Given the description of an element on the screen output the (x, y) to click on. 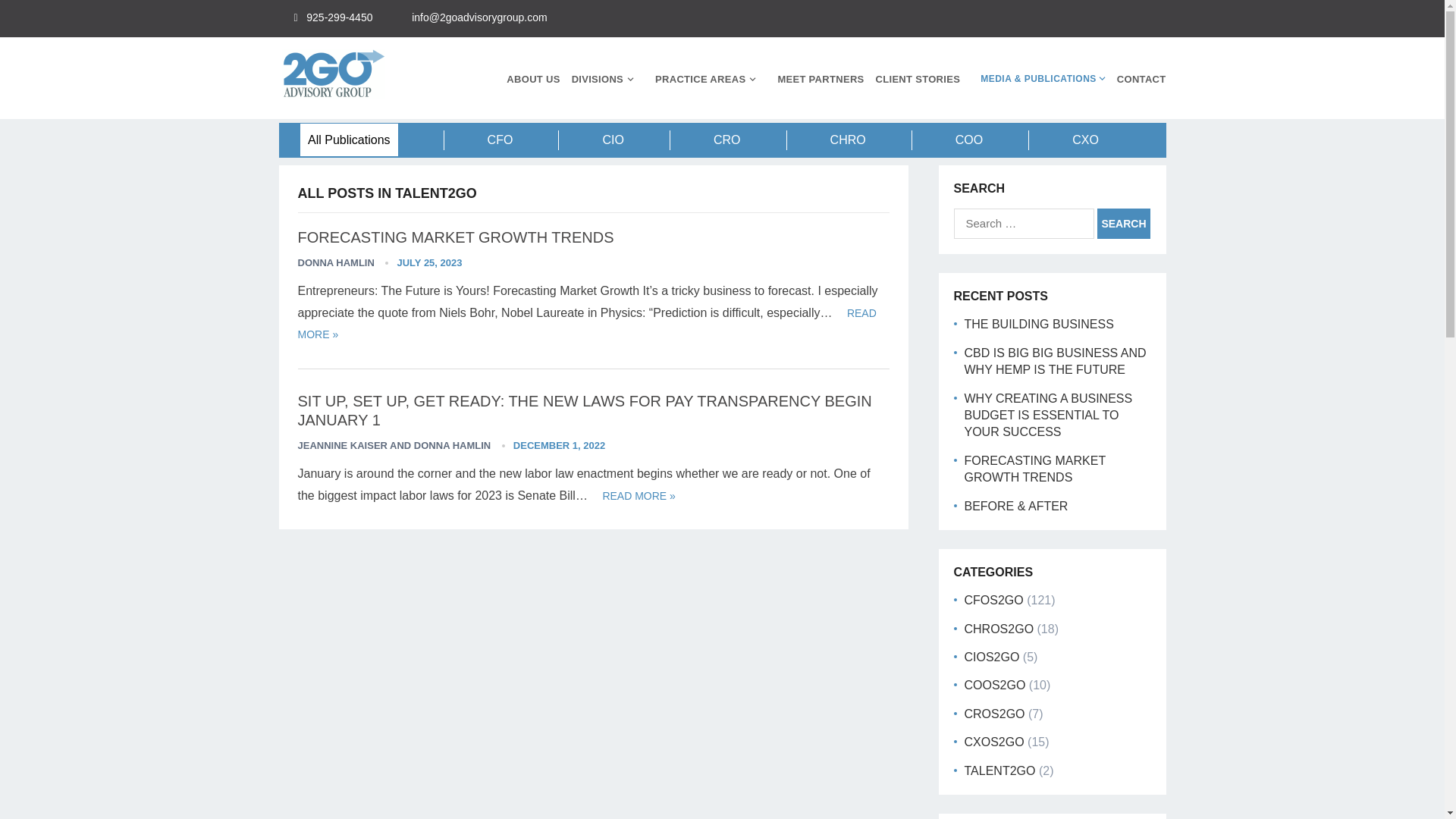
BEFORE & AFTER Element type: text (1016, 504)
FORECASTING MARKET GROWTH TRENDS Element type: text (455, 237)
DONNA HAMLIN Element type: text (335, 262)
CIO Element type: text (612, 139)
Search Element type: text (1123, 223)
WHY CREATING A BUSINESS BUDGET IS ESSENTIAL TO YOUR SUCCESS Element type: text (1048, 415)
COO Element type: text (968, 139)
CHRO Element type: text (848, 139)
COOS2GO Element type: text (995, 684)
CLIENT STORIES Element type: text (917, 79)
CONTACT Element type: text (1141, 79)
JEANNINE KAISER AND DONNA HAMLIN Element type: text (393, 445)
PRACTICE AREAS Element type: text (710, 79)
CFOS2GO Element type: text (993, 599)
FORECASTING MARKET GROWTH TRENDS Element type: text (1034, 468)
info@2goadvisorygroup.com Element type: text (478, 17)
TALENT2GO Element type: text (999, 770)
THE BUILDING BUSINESS Element type: text (1038, 323)
CROS2GO Element type: text (994, 713)
CXO Element type: text (1085, 139)
All Publications Element type: text (349, 139)
CBD IS BIG BIG BUSINESS AND WHY HEMP IS THE FUTURE Element type: text (1055, 361)
CHROS2GO Element type: text (999, 628)
DIVISIONS Element type: text (607, 79)
MEDIA & PUBLICATIONS Element type: text (1038, 78)
CRO Element type: text (726, 139)
CIOS2GO Element type: text (991, 656)
ABOUT US Element type: text (532, 79)
MEET PARTNERS Element type: text (820, 79)
CFO Element type: text (500, 139)
CXOS2GO Element type: text (994, 741)
